Given the description of an element on the screen output the (x, y) to click on. 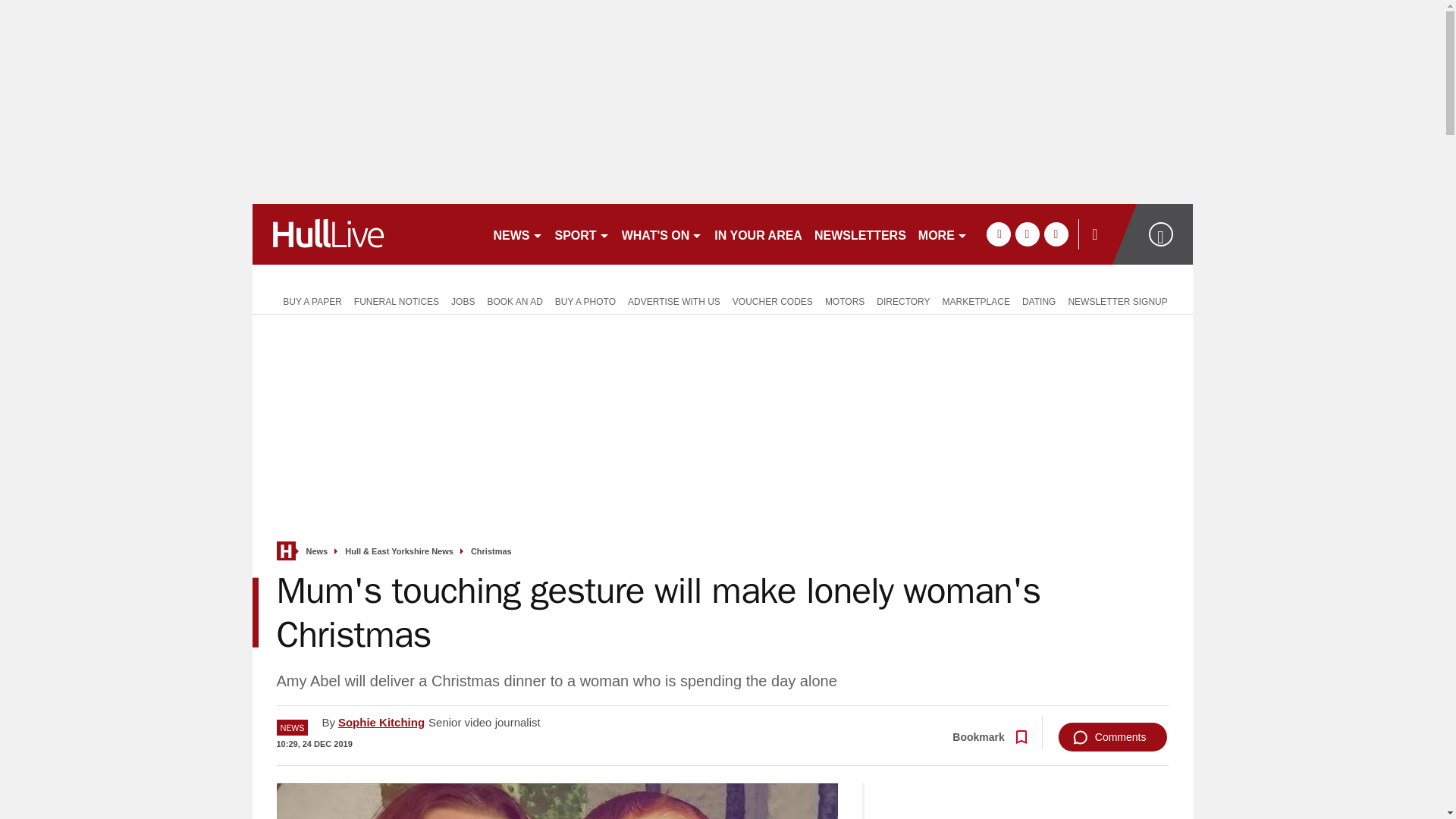
instagram (1055, 233)
NEWS (517, 233)
hulldailymail (365, 233)
MORE (943, 233)
SPORT (581, 233)
facebook (997, 233)
twitter (1026, 233)
Comments (1112, 736)
WHAT'S ON (662, 233)
NEWSLETTERS (860, 233)
